Given the description of an element on the screen output the (x, y) to click on. 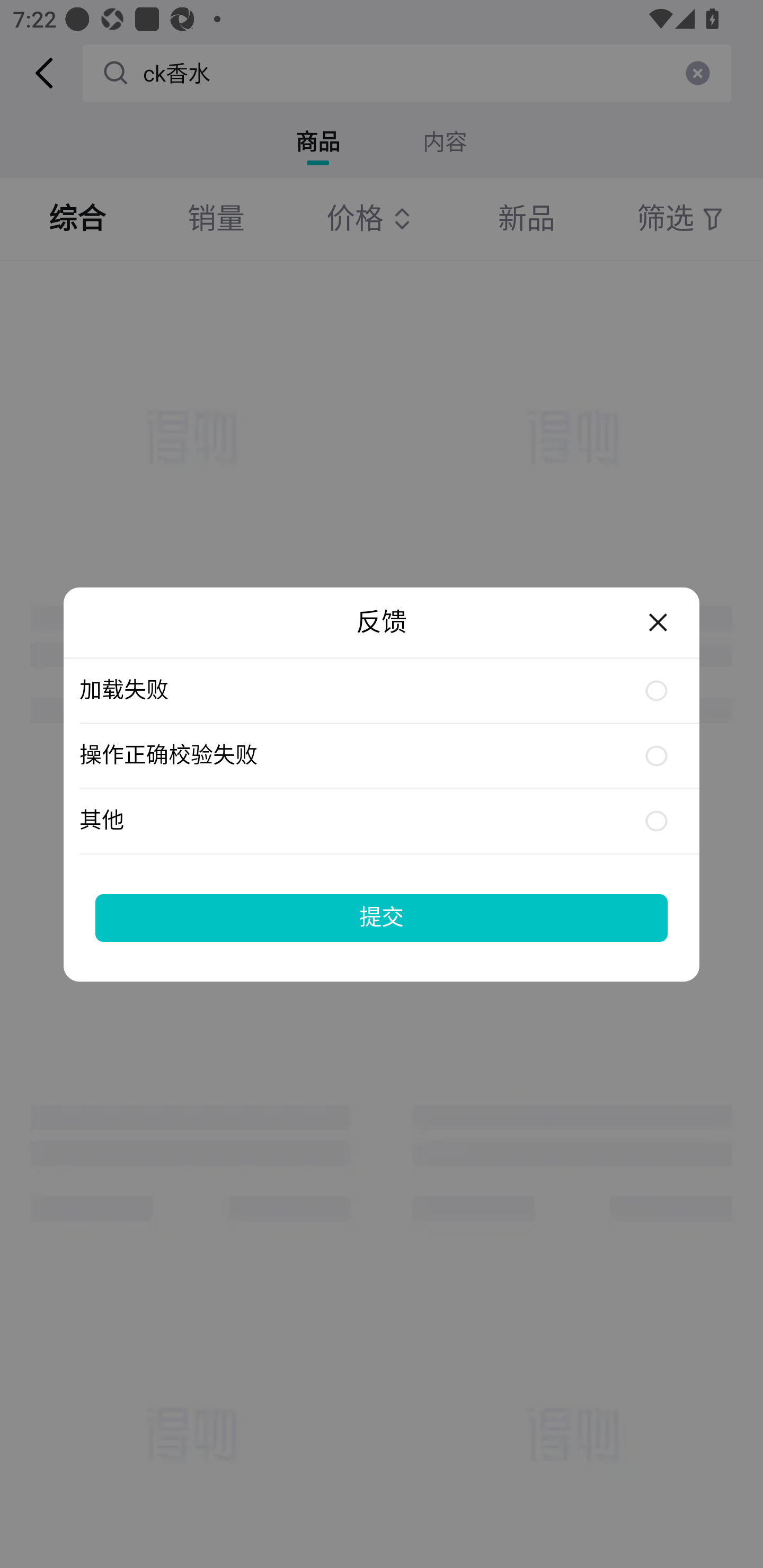
提交 (381, 917)
